Given the description of an element on the screen output the (x, y) to click on. 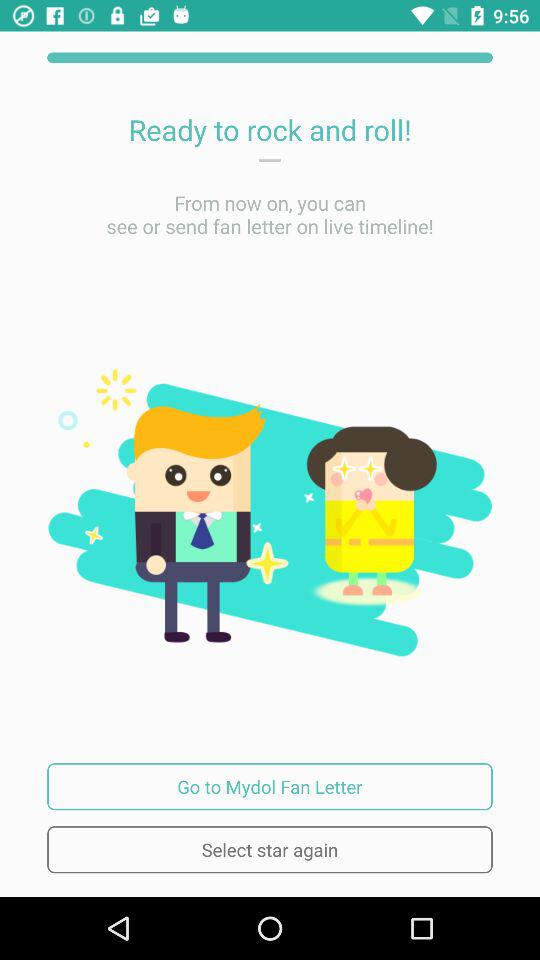
select the icon below go to mydol (269, 849)
